Given the description of an element on the screen output the (x, y) to click on. 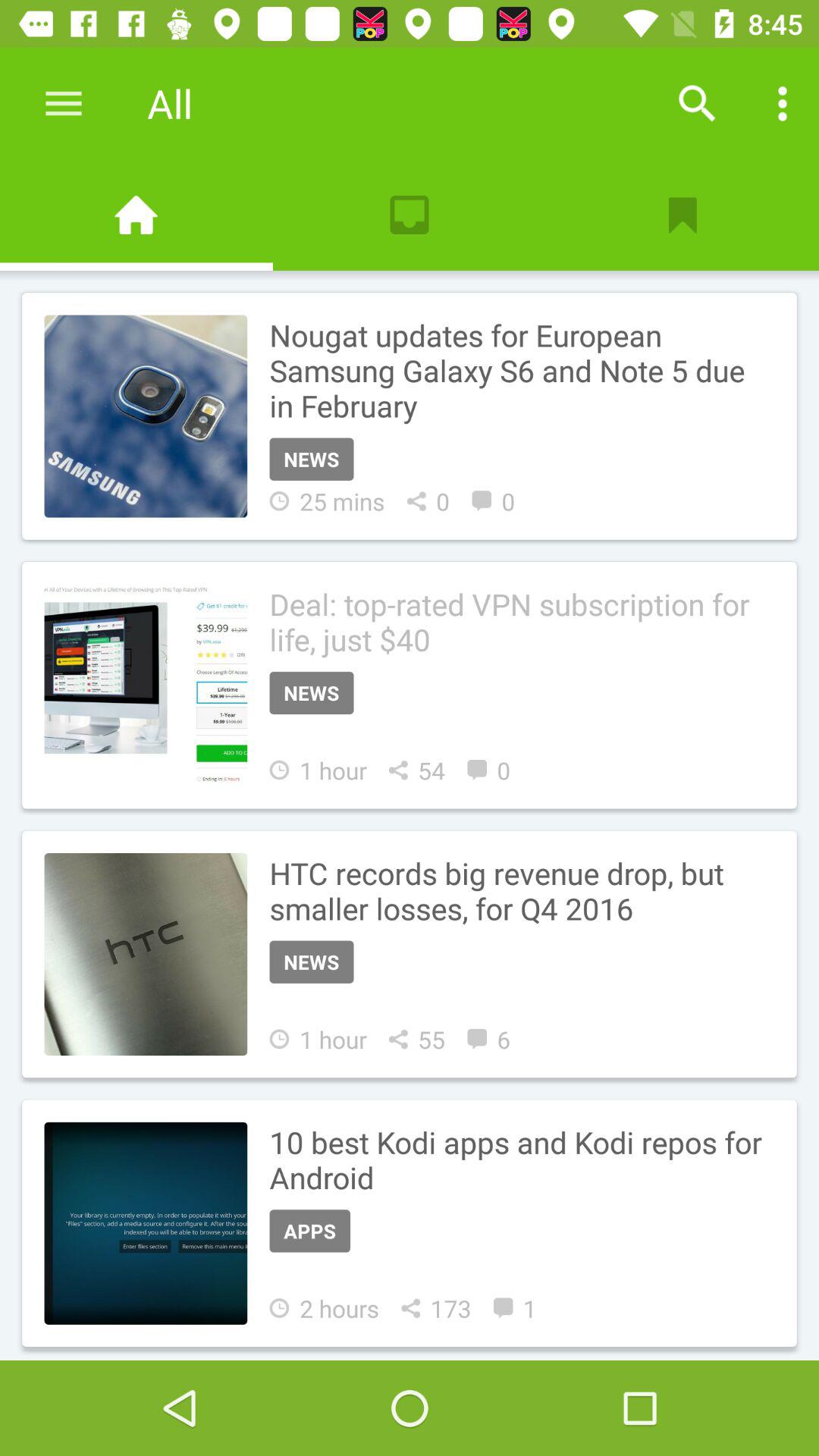
check settings (782, 103)
